Given the description of an element on the screen output the (x, y) to click on. 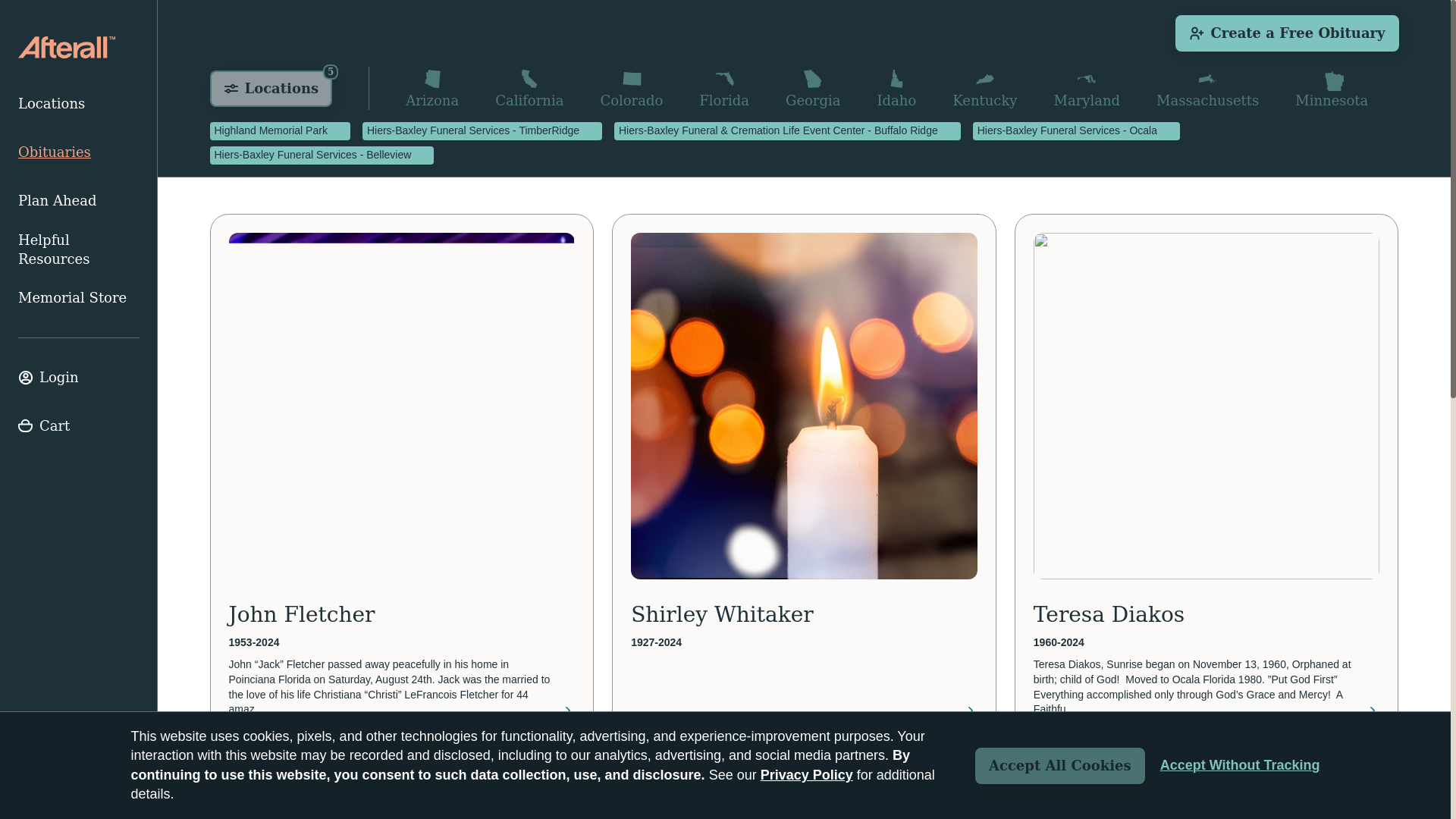
Refine by State: Florida (723, 87)
Accept Without Tracking (1240, 765)
Memorial Store (78, 297)
Minnesota (1331, 87)
Login (270, 88)
View your cart (78, 377)
Arizona (78, 426)
Refine by State: Arizona (432, 87)
Locations (432, 87)
